Given the description of an element on the screen output the (x, y) to click on. 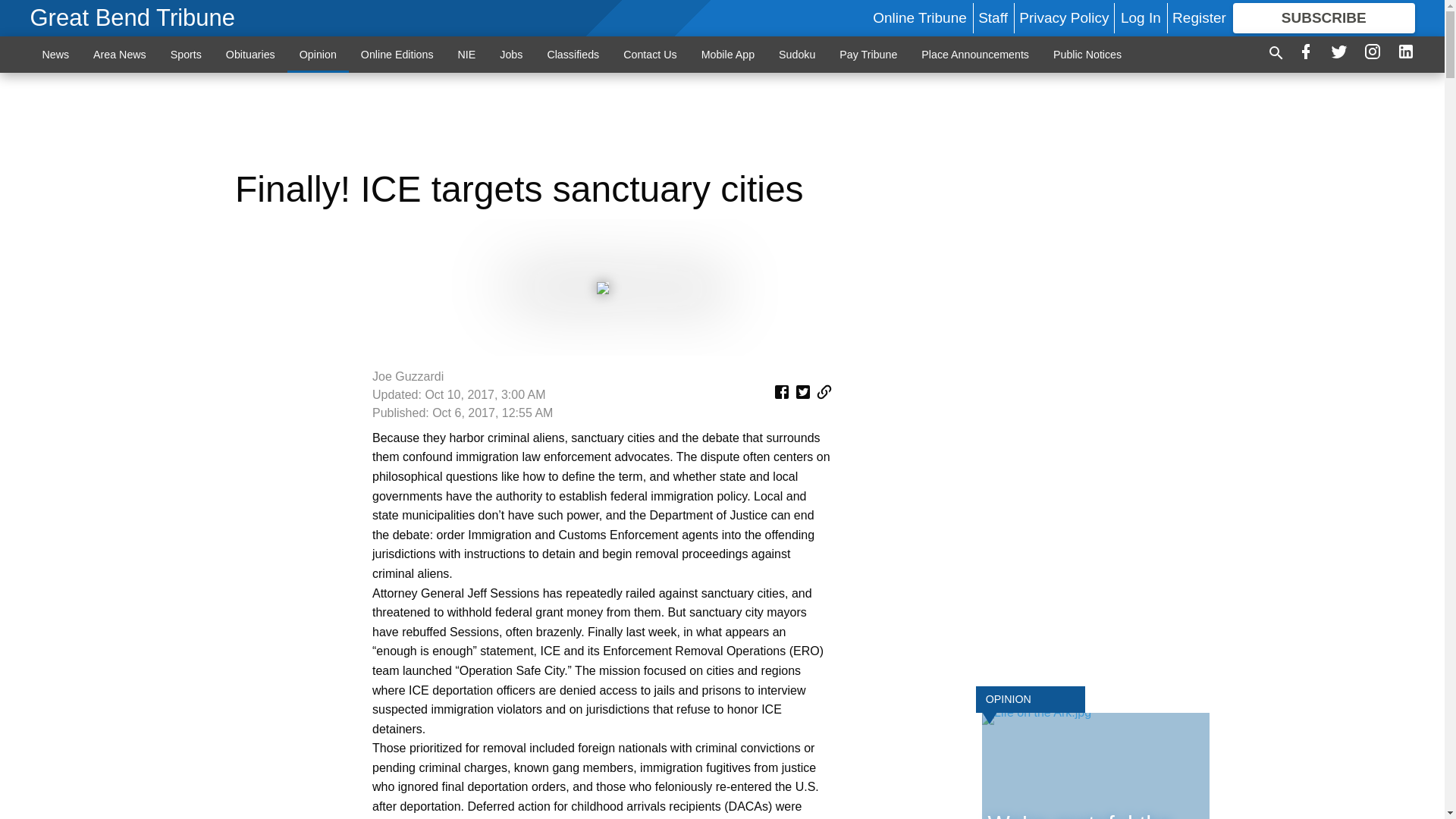
NIE (466, 54)
Place Announcements (974, 54)
Sports (186, 54)
Classifieds (572, 54)
3rd party ad content (722, 121)
Online Tribune (919, 17)
Public Notices (1087, 54)
Staff (992, 17)
SUBSCRIBE (1324, 18)
Register (1198, 17)
Sudoku (797, 54)
Privacy Policy (1063, 17)
Log In (1140, 17)
Opinion (317, 54)
Obituaries (250, 54)
